Given the description of an element on the screen output the (x, y) to click on. 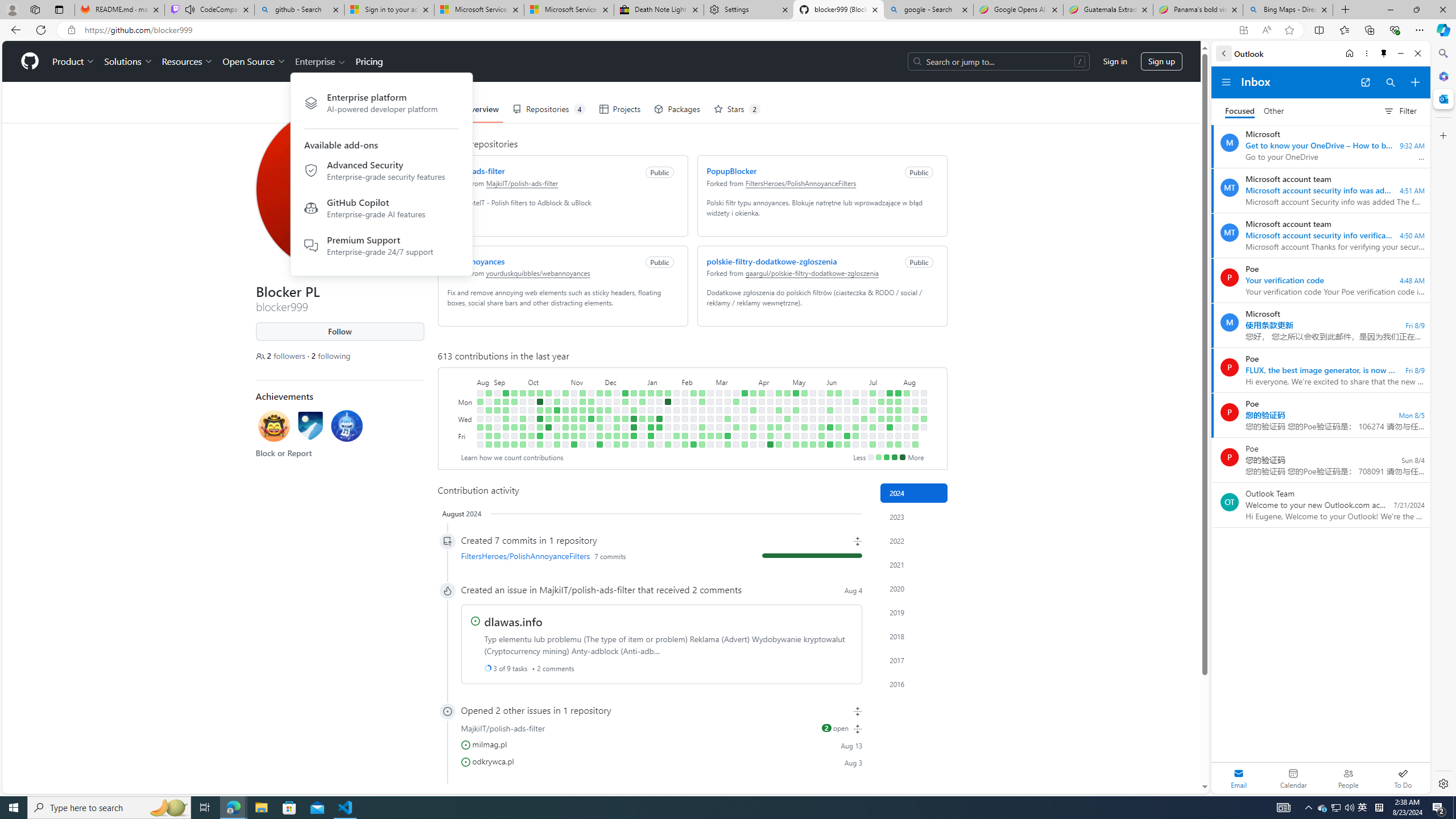
1 contribution on February 22nd. (701, 427)
Split screen (1318, 29)
5 contributions on December 1st. (598, 435)
Sign in to your account (389, 9)
1 contribution on September 8th. (496, 435)
Pricing (368, 60)
No contributions on July 5th. (863, 435)
6 contributions on May 5th. (795, 392)
2 contributions on September 24th. (522, 392)
Contribution activity in 2024 (913, 492)
1 contribution on July 29th. (897, 401)
2021 (913, 564)
1 contribution on July 7th. (872, 392)
No contributions on May 2nd. (786, 427)
